Given the description of an element on the screen output the (x, y) to click on. 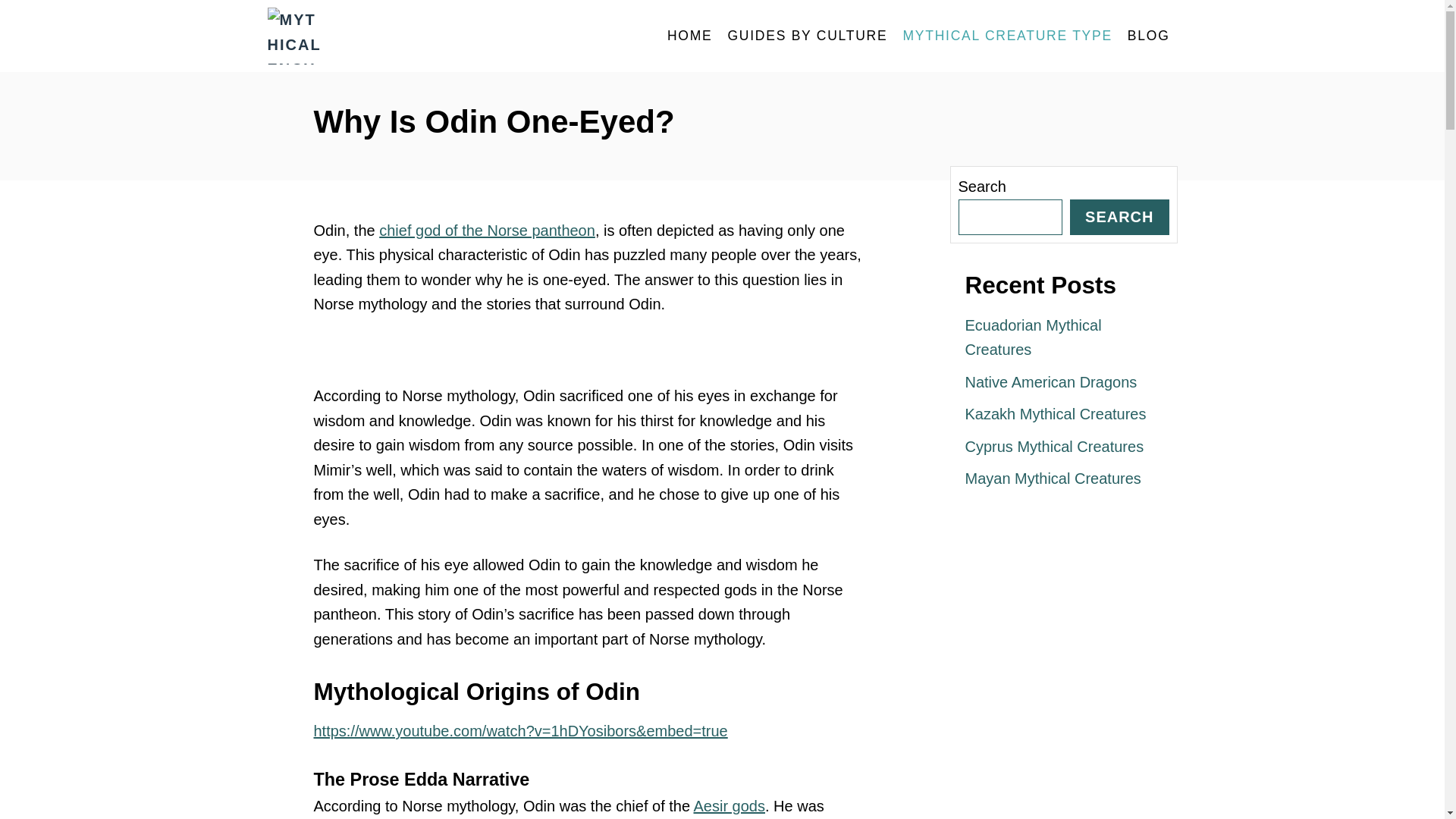
Mythical Encyclopedia (403, 36)
GUIDES BY CULTURE (807, 36)
HOME (689, 36)
MYTHICAL CREATURE TYPE (1007, 36)
